Given the description of an element on the screen output the (x, y) to click on. 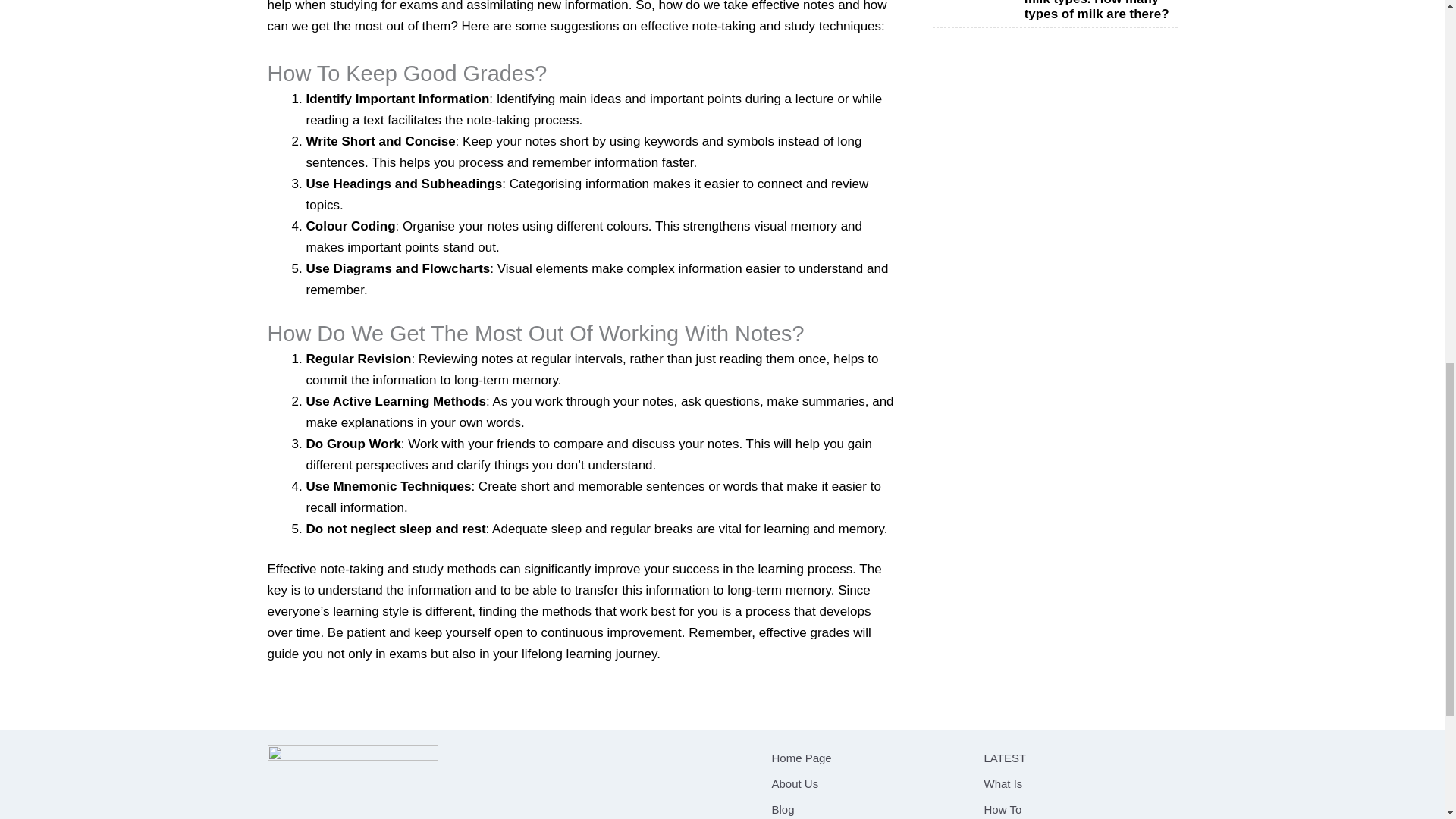
About Us (864, 783)
Blog (864, 807)
Home Page (864, 758)
